Given the description of an element on the screen output the (x, y) to click on. 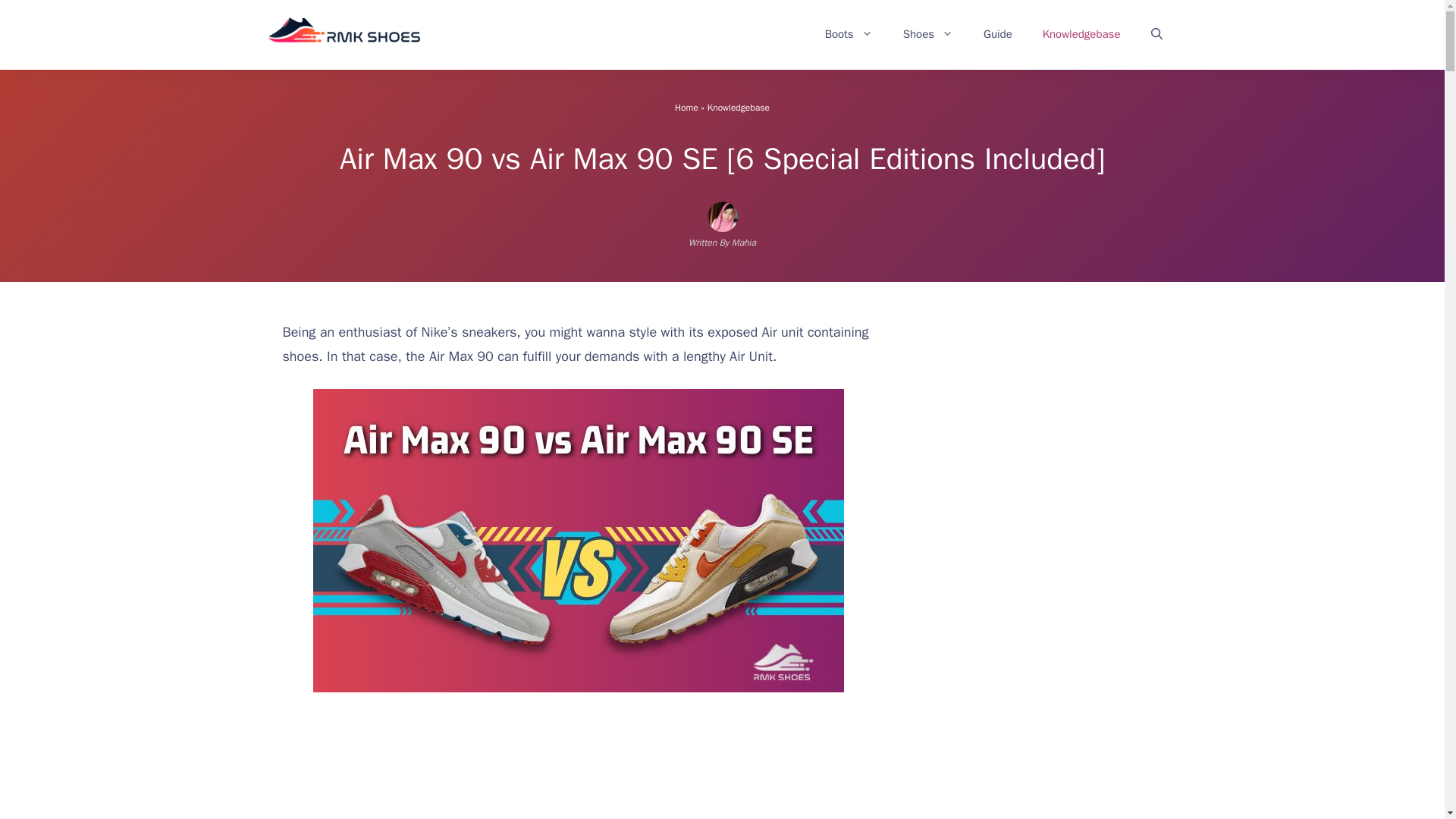
Guide (997, 33)
Knowledgebase (1081, 33)
Shoes (928, 33)
Boots (848, 33)
